Given the description of an element on the screen output the (x, y) to click on. 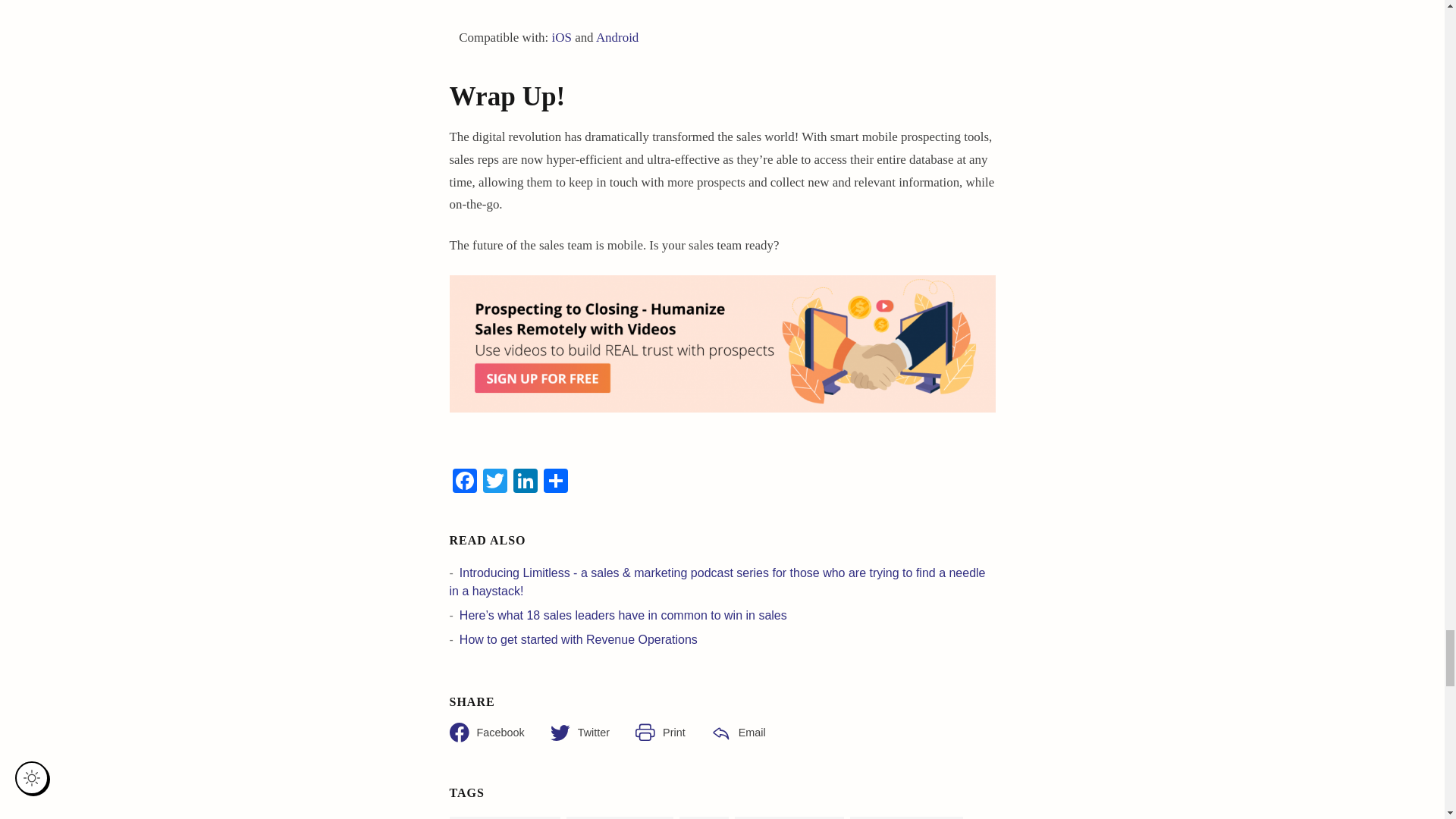
Facebook (463, 482)
sales prospecting tools (721, 343)
Twitter (494, 482)
